Given the description of an element on the screen output the (x, y) to click on. 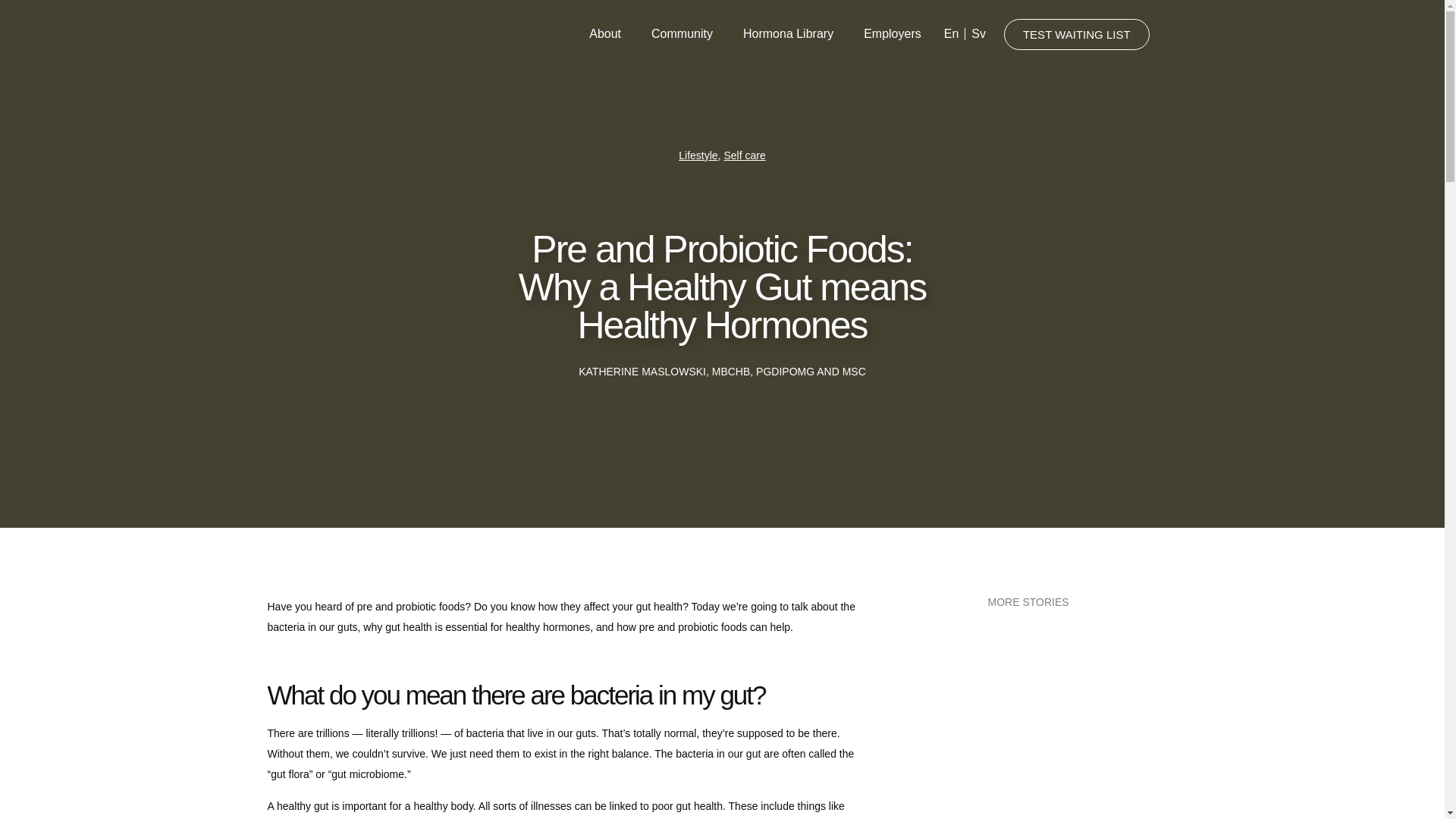
Lifestyle (697, 155)
Hormona Library (788, 33)
En (951, 33)
Sv (978, 33)
En (951, 33)
Sv (978, 33)
TEST WAITING LIST (1077, 33)
About (604, 33)
Employers (892, 33)
Community (682, 33)
